Given the description of an element on the screen output the (x, y) to click on. 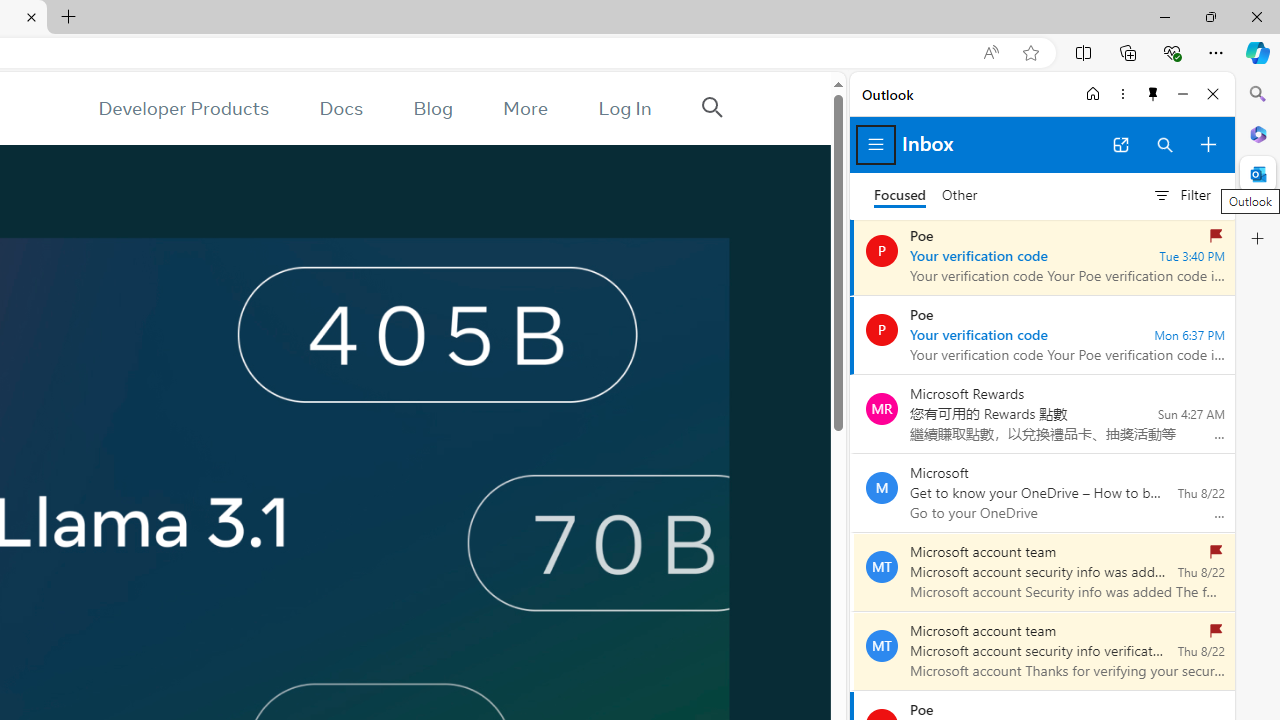
Outlook (1258, 174)
Open in new tab (1120, 144)
Focused (900, 195)
Docs (341, 108)
Customize (1258, 239)
Other (959, 195)
Home (1093, 93)
Log In (625, 108)
Developer Products (183, 108)
More options (1122, 93)
More (525, 108)
